Given the description of an element on the screen output the (x, y) to click on. 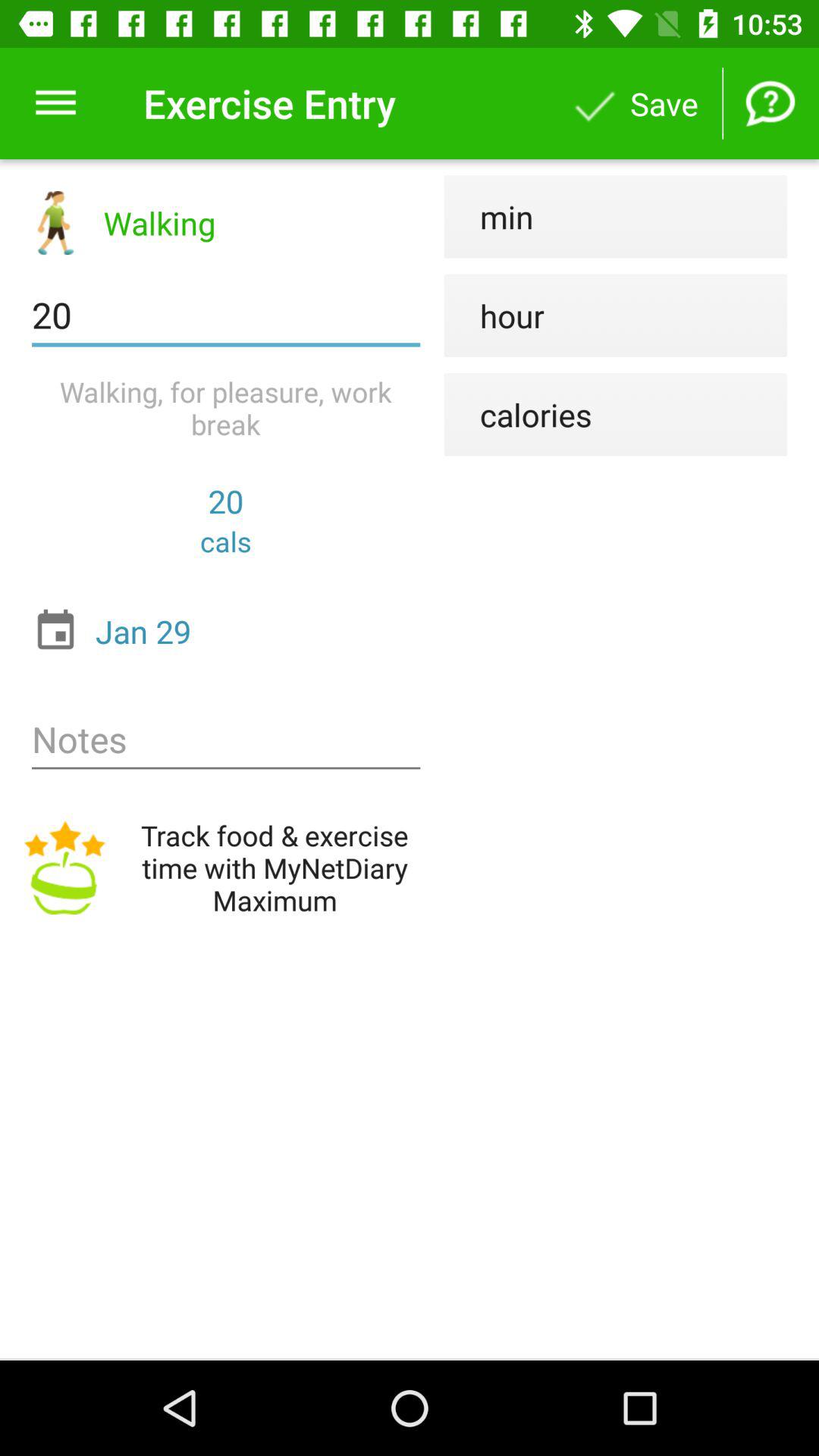
jump to hour icon (494, 315)
